Given the description of an element on the screen output the (x, y) to click on. 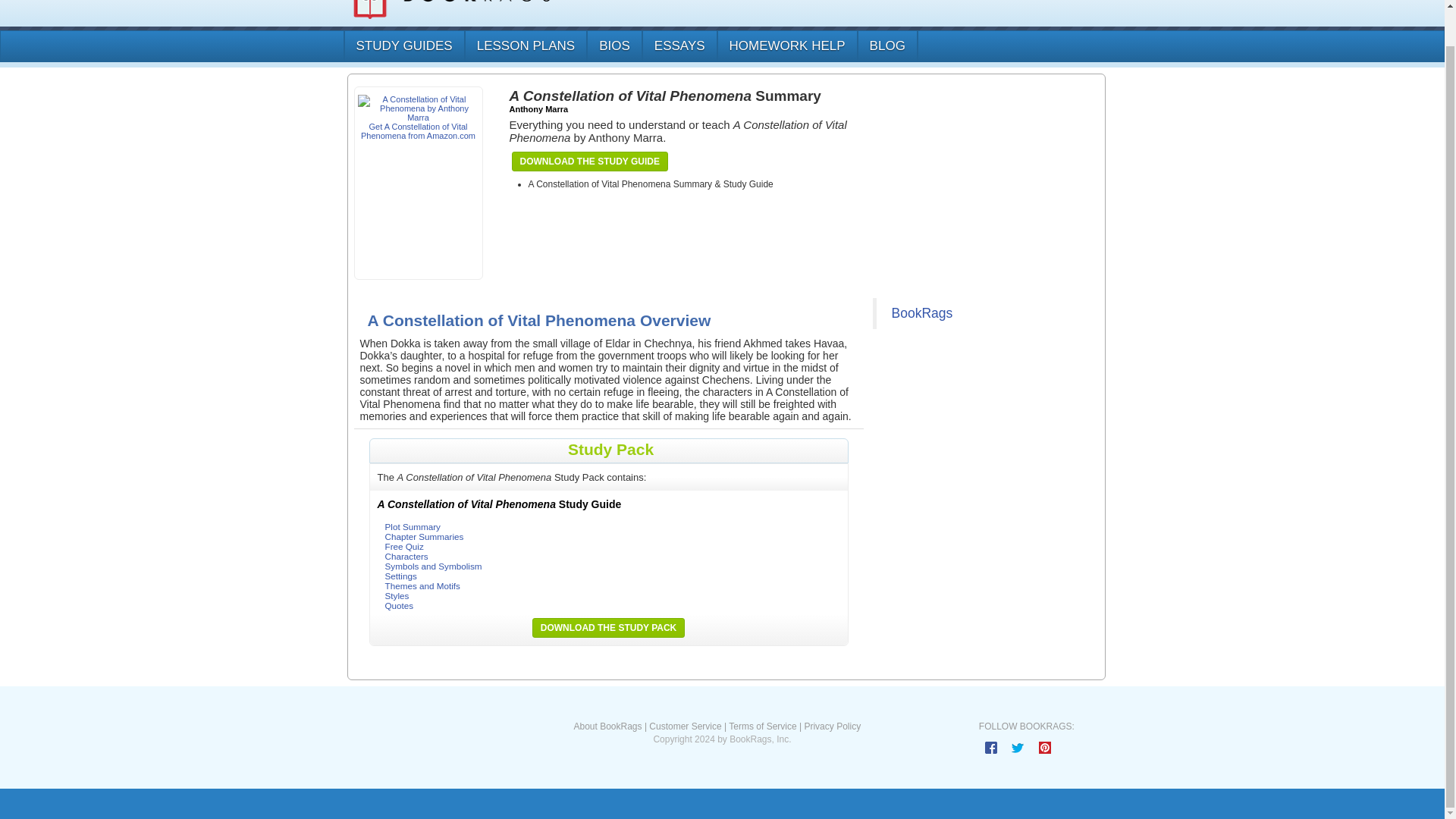
LESSON PLANS (525, 46)
DOWNLOAD THE STUDY PACK (608, 628)
Settings (400, 575)
Download the Study Pack (608, 628)
Privacy Policy (831, 726)
Themes and Motifs (422, 585)
BIOS (614, 46)
Symbols and Symbolism (433, 565)
STUDY GUIDES (402, 46)
About BookRags (607, 726)
Free Quiz (404, 546)
Styles (397, 595)
HOMEWORK HELP (786, 46)
ESSAYS (679, 46)
Characters (406, 556)
